Given the description of an element on the screen output the (x, y) to click on. 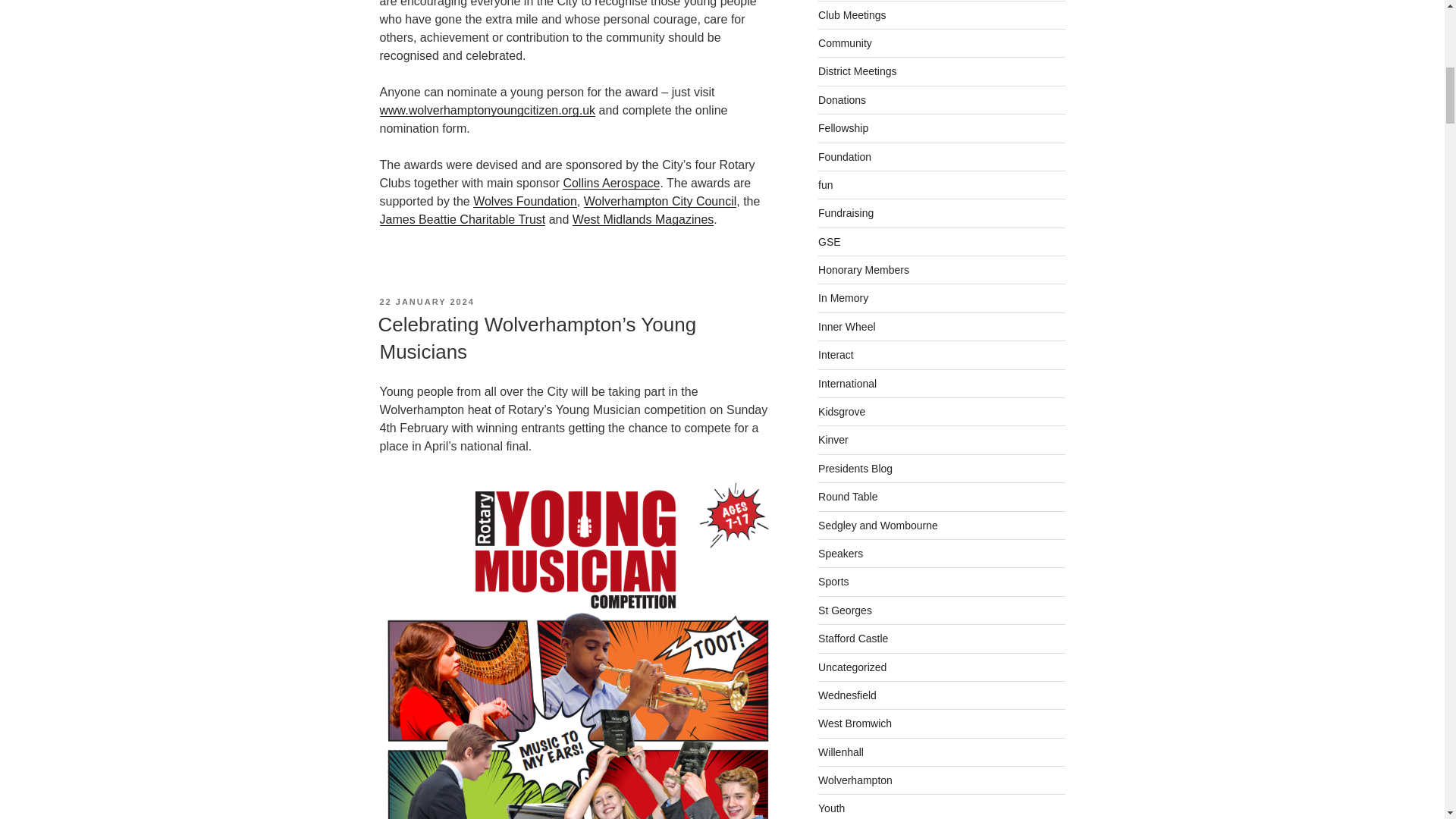
James Beattie Charitable Trust (461, 219)
Wolverhampton City Council (659, 201)
22 JANUARY 2024 (426, 301)
Collins Aerospace (610, 182)
Wolves Foundation (524, 201)
West Midlands Magazines (642, 219)
www.wolverhamptonyoungcitizen.org.uk (486, 110)
